Given the description of an element on the screen output the (x, y) to click on. 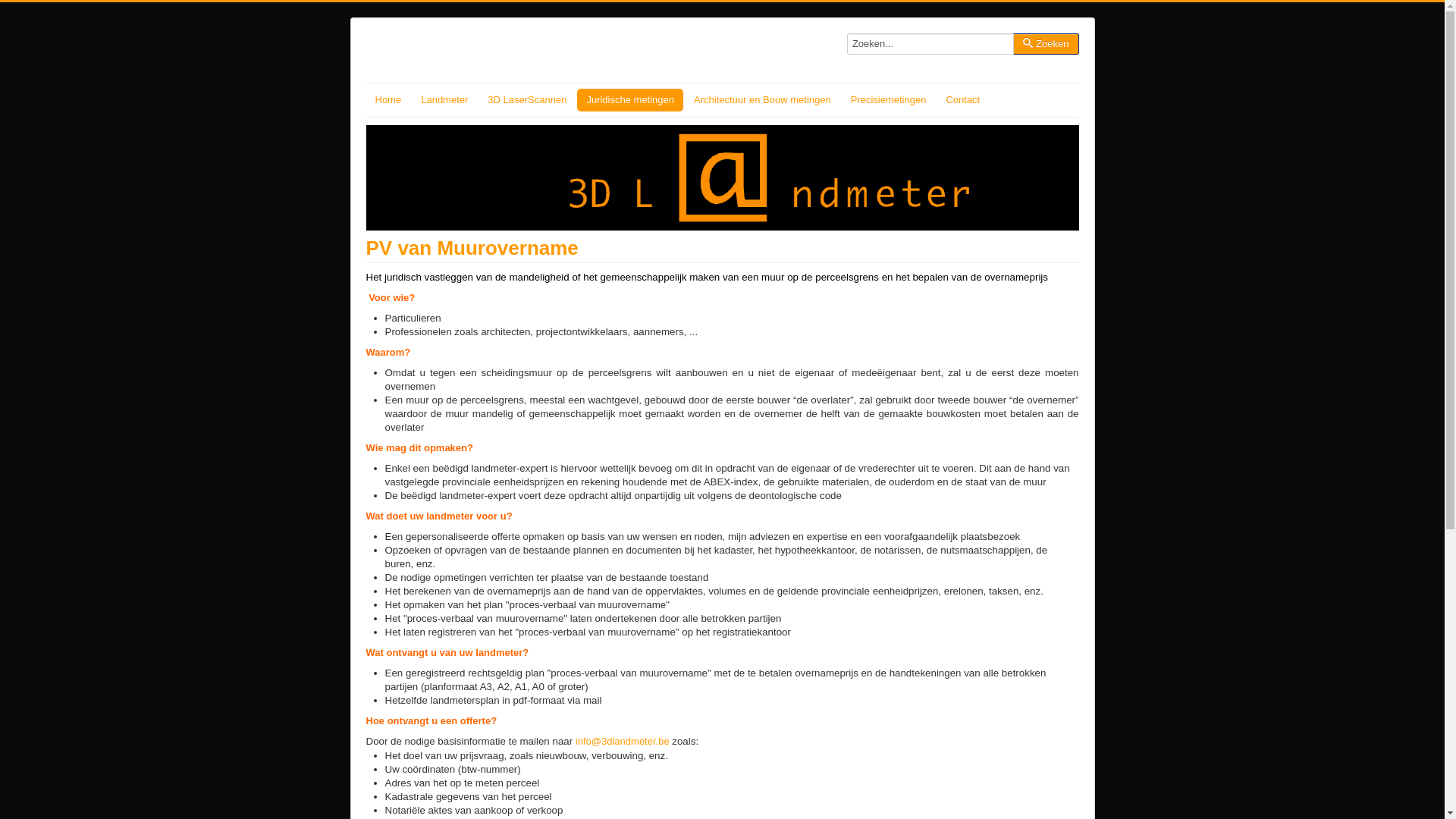
Architectuur en Bouw metingen Element type: text (762, 99)
3D LaserScannen Element type: text (526, 99)
Precisiemetingen Element type: text (888, 99)
Zoeken Element type: text (1046, 43)
Home Element type: text (387, 99)
Landmeter Element type: text (443, 99)
Contact Element type: text (962, 99)
PV van Muurovername Element type: text (471, 247)
info@3dlandmeter.be Element type: text (622, 740)
Juridische metingen Element type: text (630, 99)
